Given the description of an element on the screen output the (x, y) to click on. 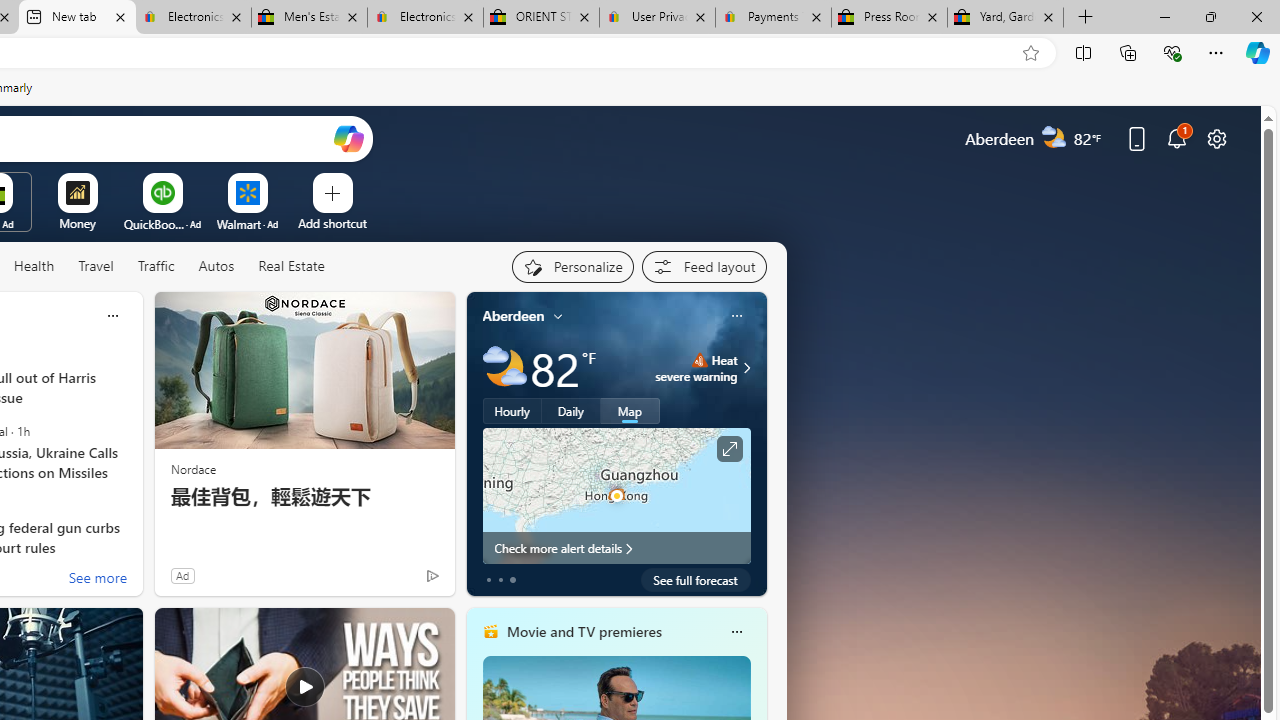
Feed settings (703, 266)
Add a site (332, 223)
Heat - Severe (699, 359)
